Given the description of an element on the screen output the (x, y) to click on. 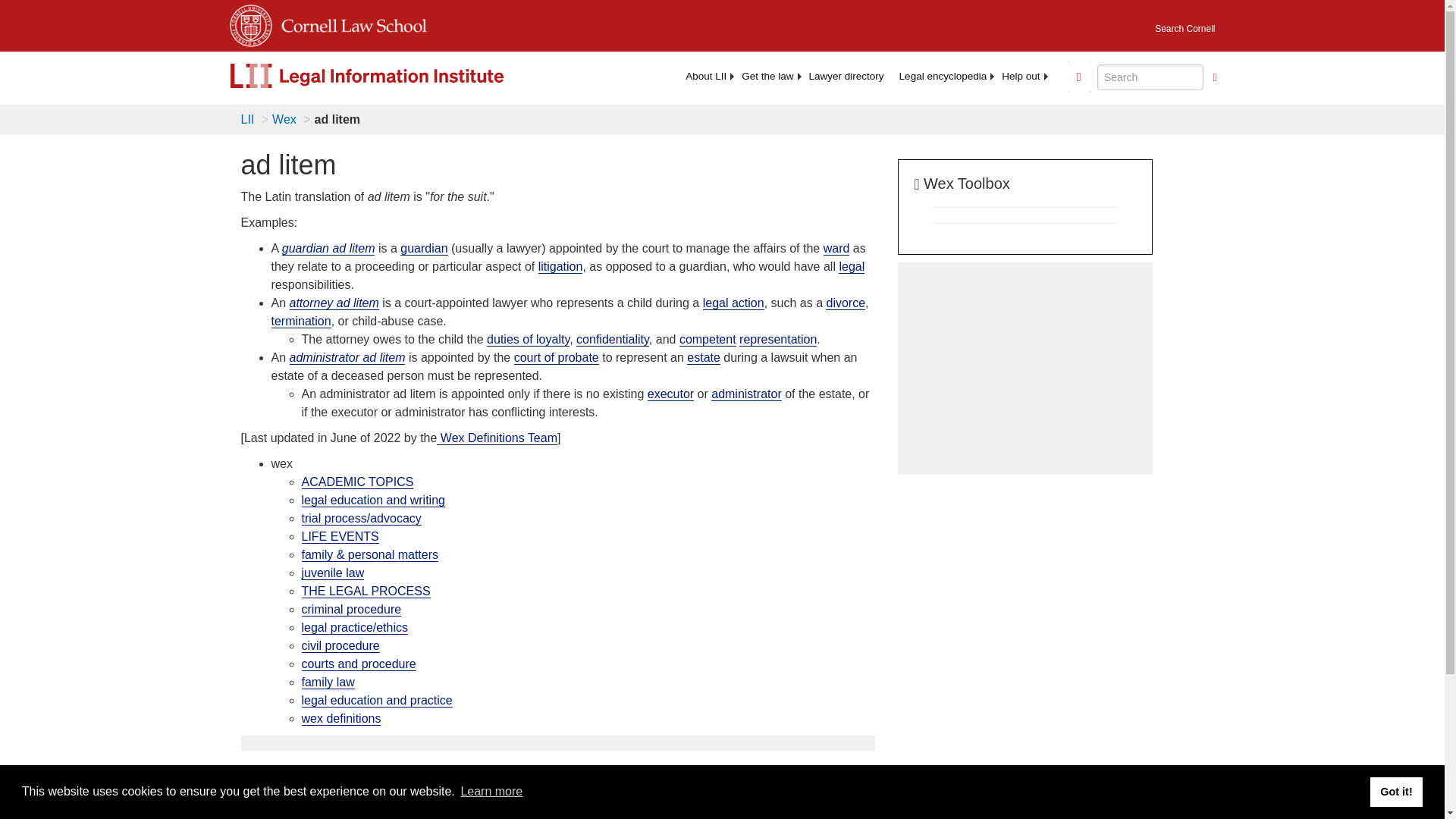
Got it! (1396, 791)
About LII (705, 76)
Lawyer directory (846, 76)
Get the law (766, 76)
Legal encyclopedia (942, 76)
Cornell Law School (348, 23)
Search Cornell University (1184, 24)
3rd party ad content (1025, 368)
Cornell Law School (348, 23)
Cornell University (249, 23)
